Given the description of an element on the screen output the (x, y) to click on. 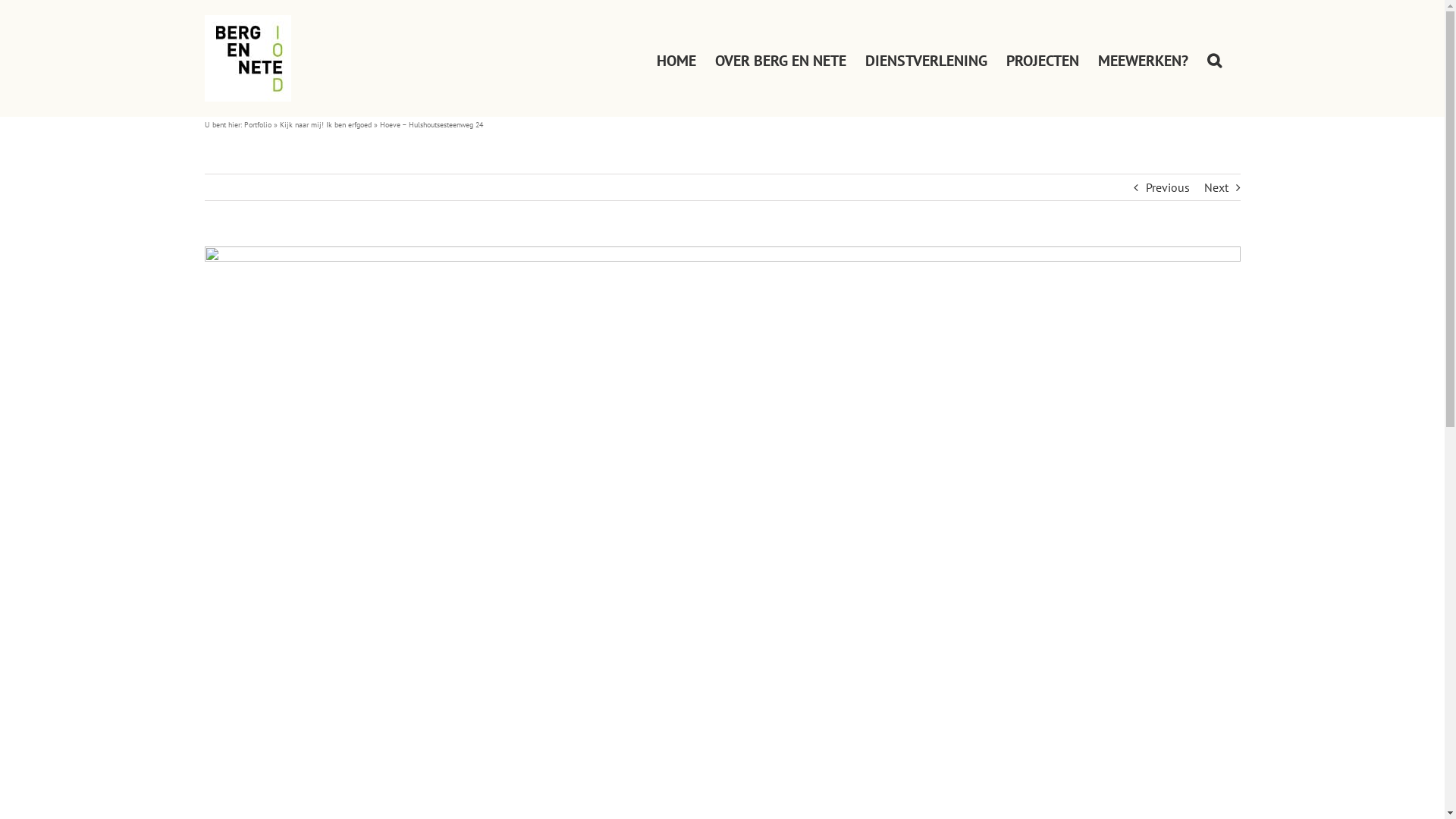
Next Element type: text (1216, 187)
Zoeken Element type: hover (1214, 58)
HOME Element type: text (676, 58)
Previous Element type: text (1167, 187)
Kijk naar mij! Ik ben erfgoed Element type: text (324, 124)
OVER BERG EN NETE Element type: text (779, 58)
PROJECTEN Element type: text (1041, 58)
Portfolio Element type: text (257, 124)
MEEWERKEN? Element type: text (1143, 58)
DIENSTVERLENING Element type: text (925, 58)
